Given the description of an element on the screen output the (x, y) to click on. 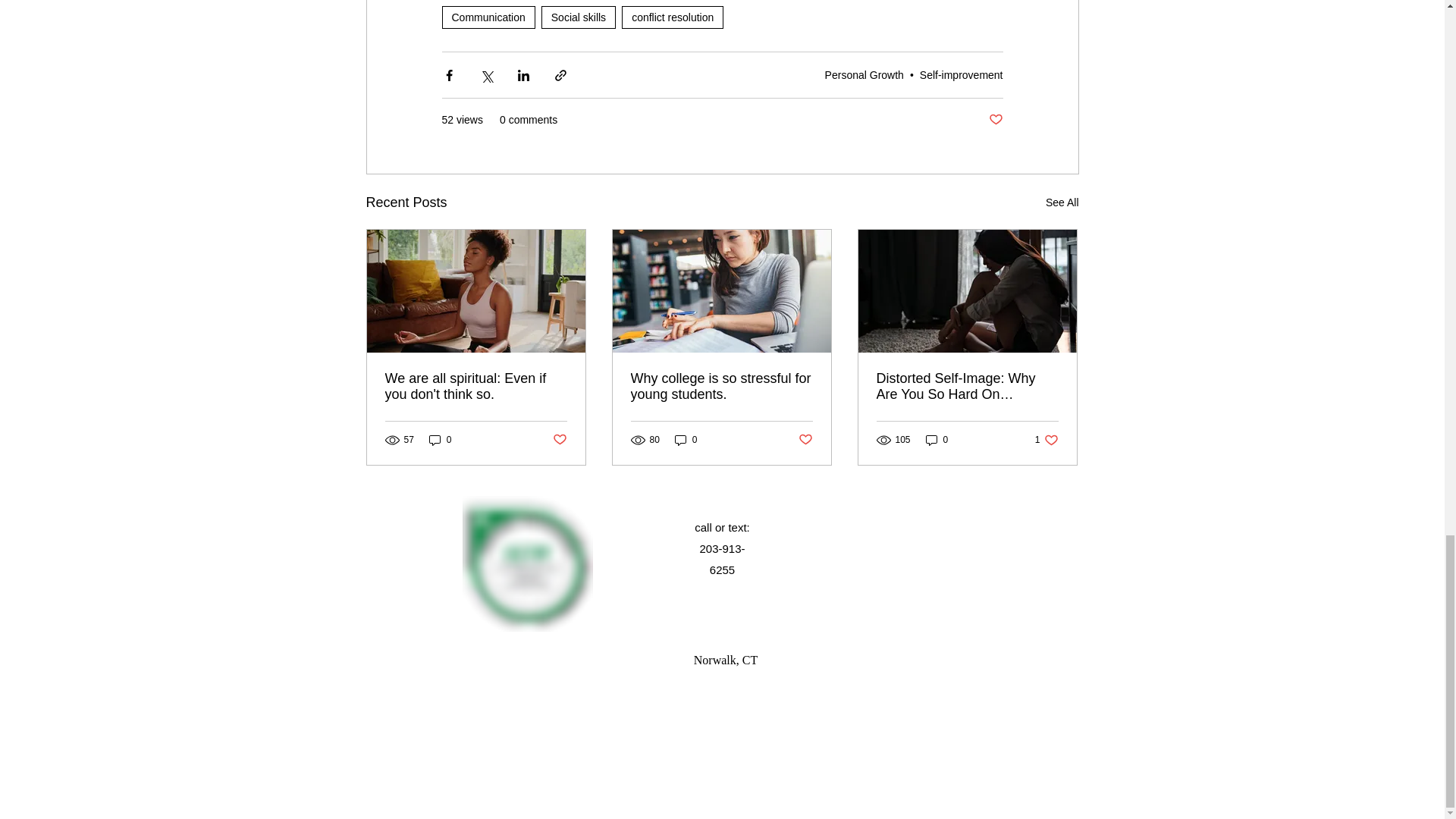
Self-improvement (961, 73)
See All (1061, 202)
Post not marked as liked (558, 439)
conflict resolution (672, 16)
Personal Growth (864, 73)
Social skills (578, 16)
0 (440, 439)
We are all spiritual: Even if you don't think so. (476, 386)
Post not marked as liked (995, 119)
Communication (487, 16)
